Given the description of an element on the screen output the (x, y) to click on. 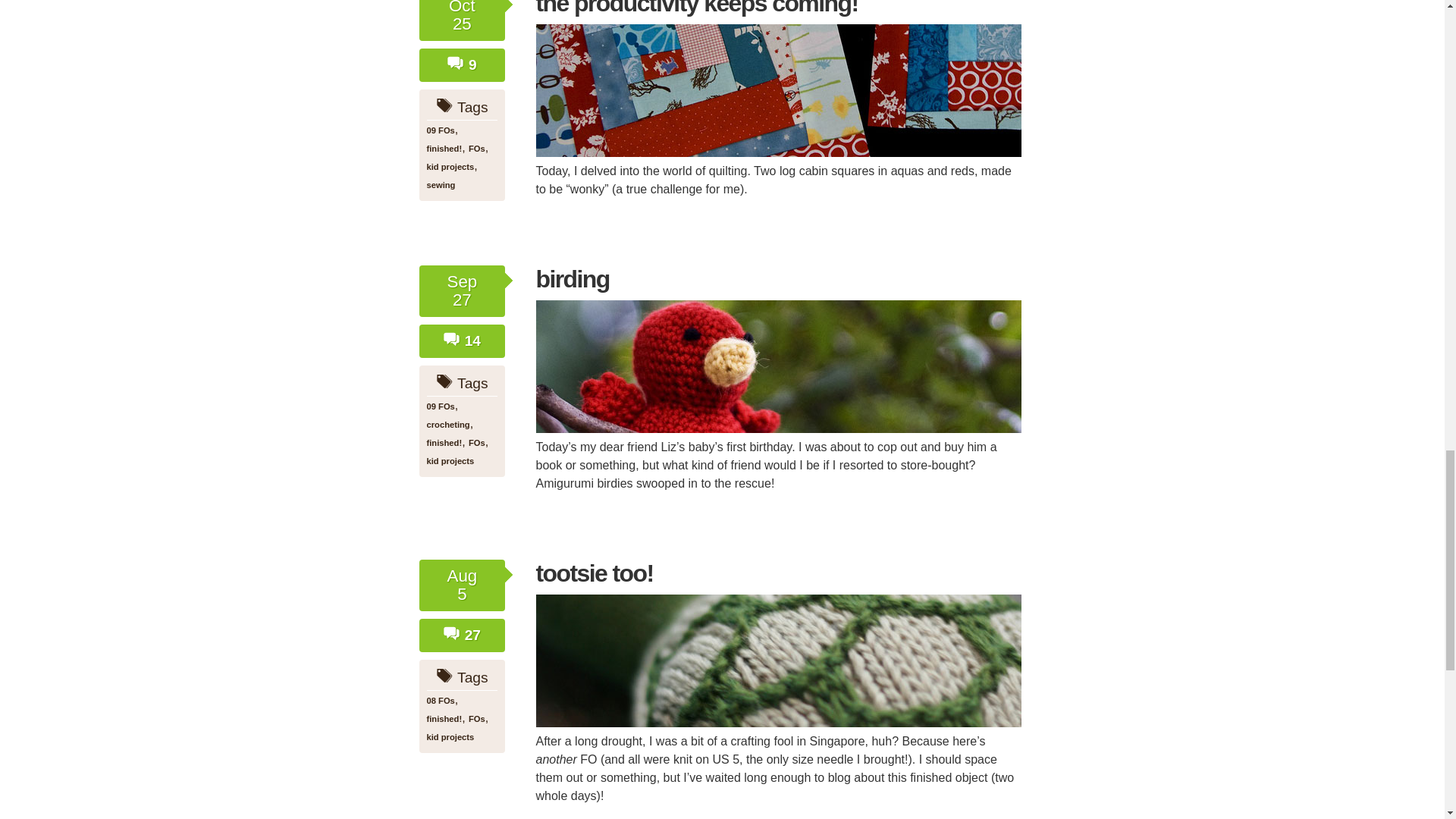
09 FOs (440, 130)
09 FOs (440, 406)
crocheting (447, 424)
finished! (443, 148)
FOs (476, 148)
14 (461, 341)
sewing (440, 184)
FOs (476, 442)
finished! (443, 442)
kid projects (450, 166)
9 (461, 65)
kid projects (450, 461)
